Given the description of an element on the screen output the (x, y) to click on. 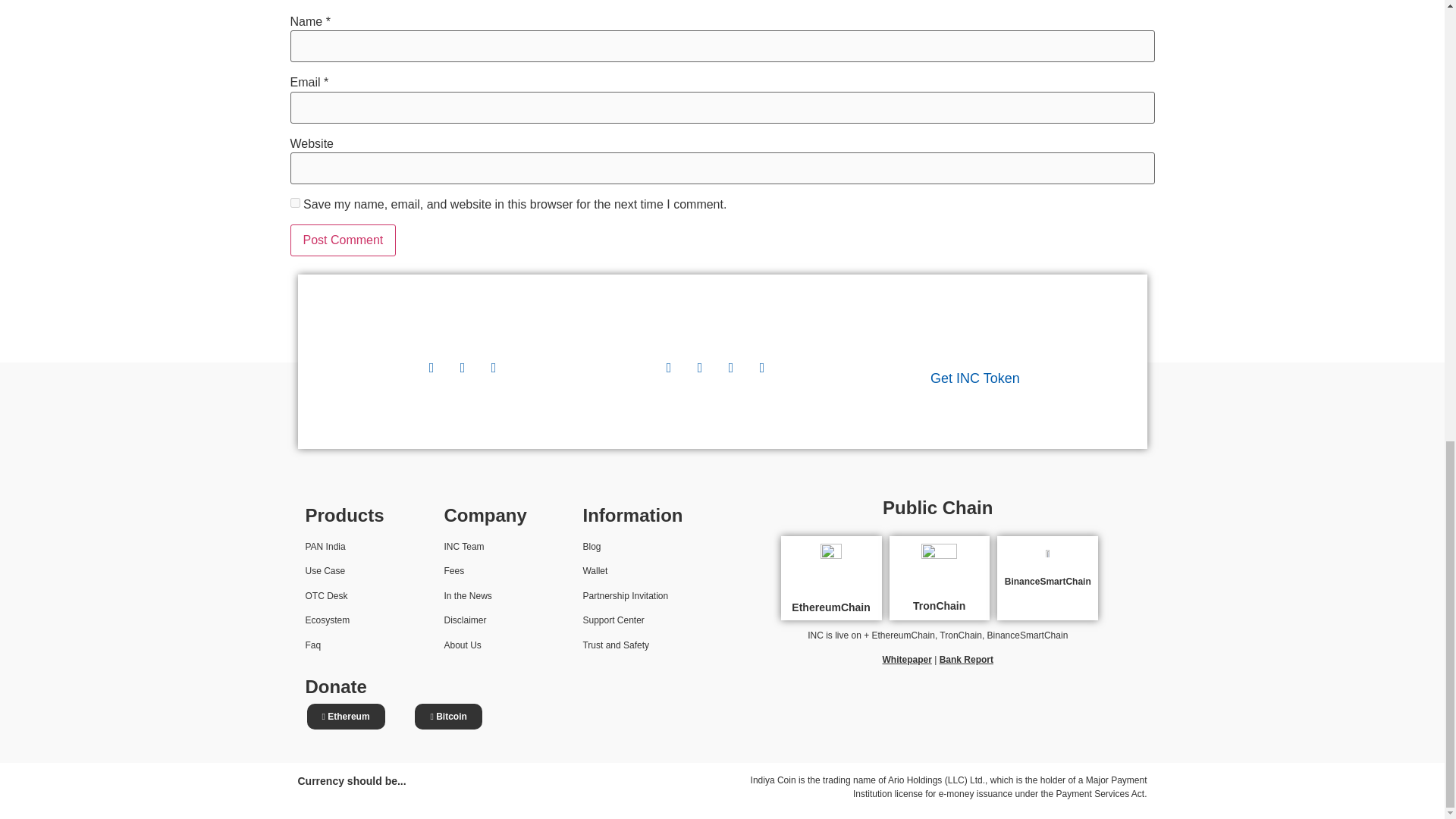
Get INC Token (975, 378)
Copy to Clipboard (451, 716)
Use Case (324, 570)
Post Comment (342, 240)
Copy to Clipboard (348, 716)
yes (294, 203)
Post Comment (342, 240)
